Given the description of an element on the screen output the (x, y) to click on. 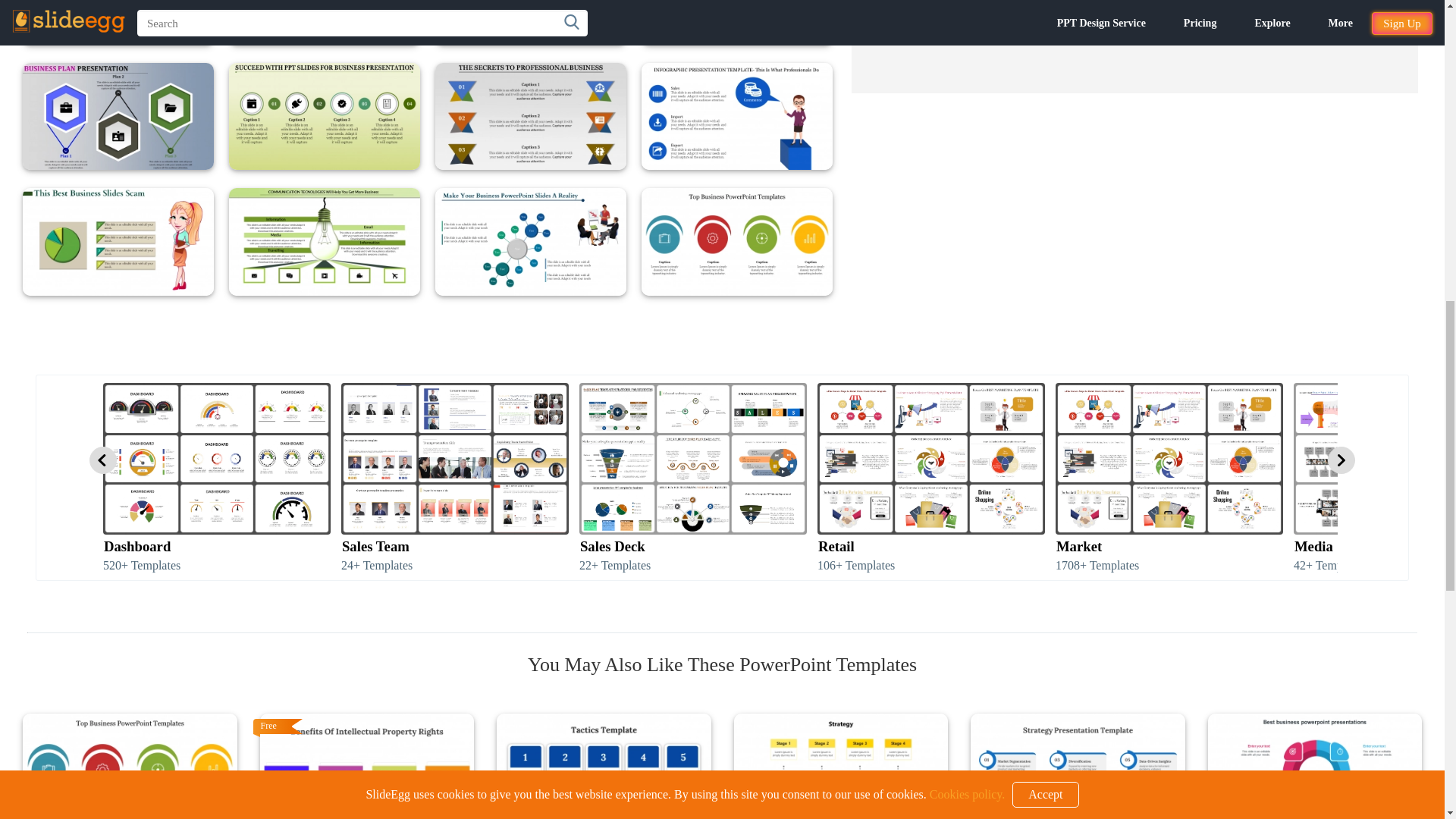
Advertisement (1134, 46)
Strategy PPT Presentation And Google Slides Themes (1078, 766)
Incredible Tactics PowerPoint And Google Slides Template (603, 766)
Benefits Of Intellectual Property Rights PPT Templates (366, 766)
Top Business PowerPoint Templates with Four Icons (130, 766)
Modern Strategy - Approach PPT And Google Slides Template (841, 766)
